Given the description of an element on the screen output the (x, y) to click on. 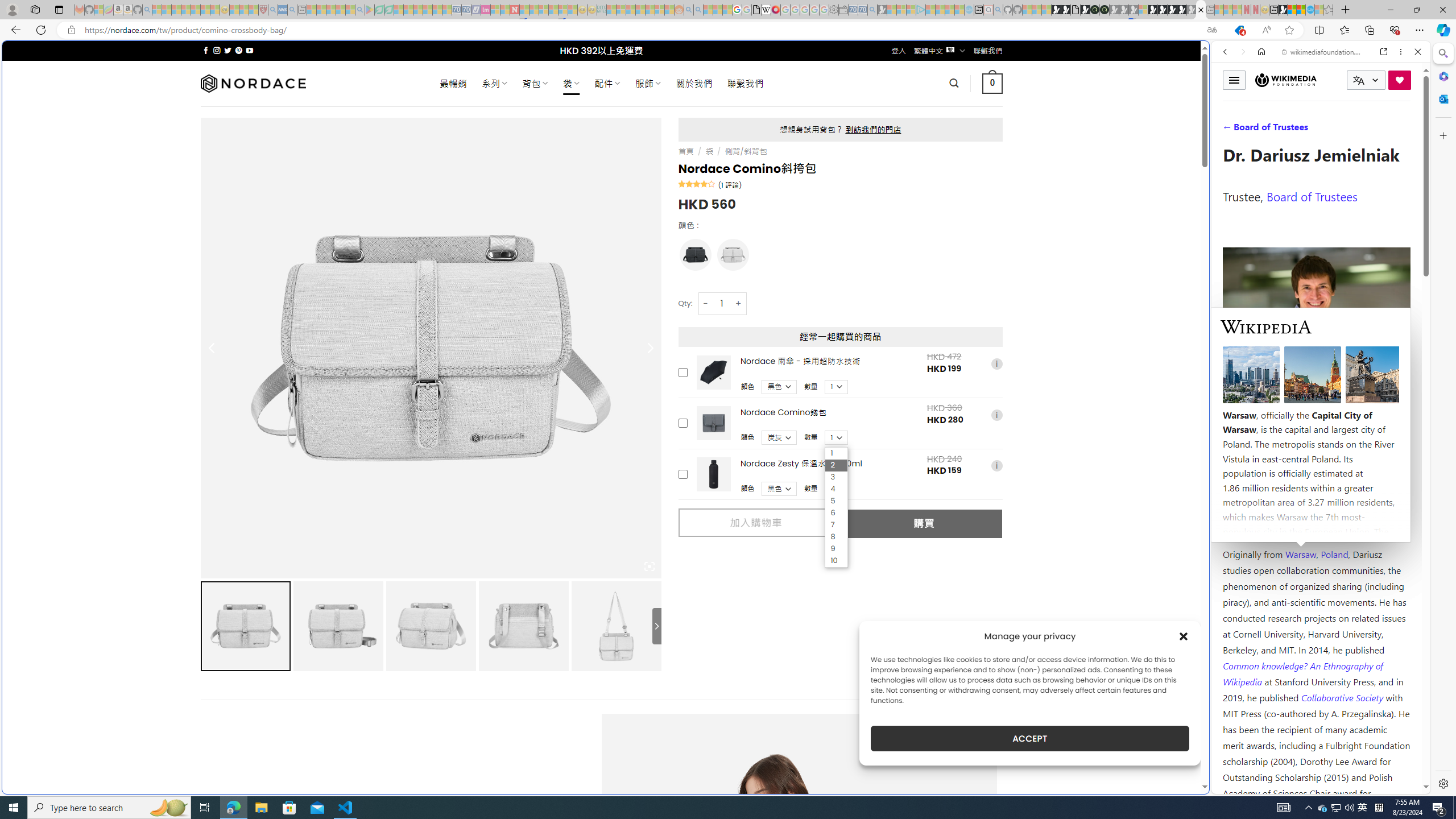
Wikimedia Foundation (1286, 79)
Class: upsell-v2-product-upsell-variable-product-qty-select (836, 488)
Donate now (1399, 80)
Class: cmplz-close (1183, 636)
Follow on Instagram (216, 50)
